Given the description of an element on the screen output the (x, y) to click on. 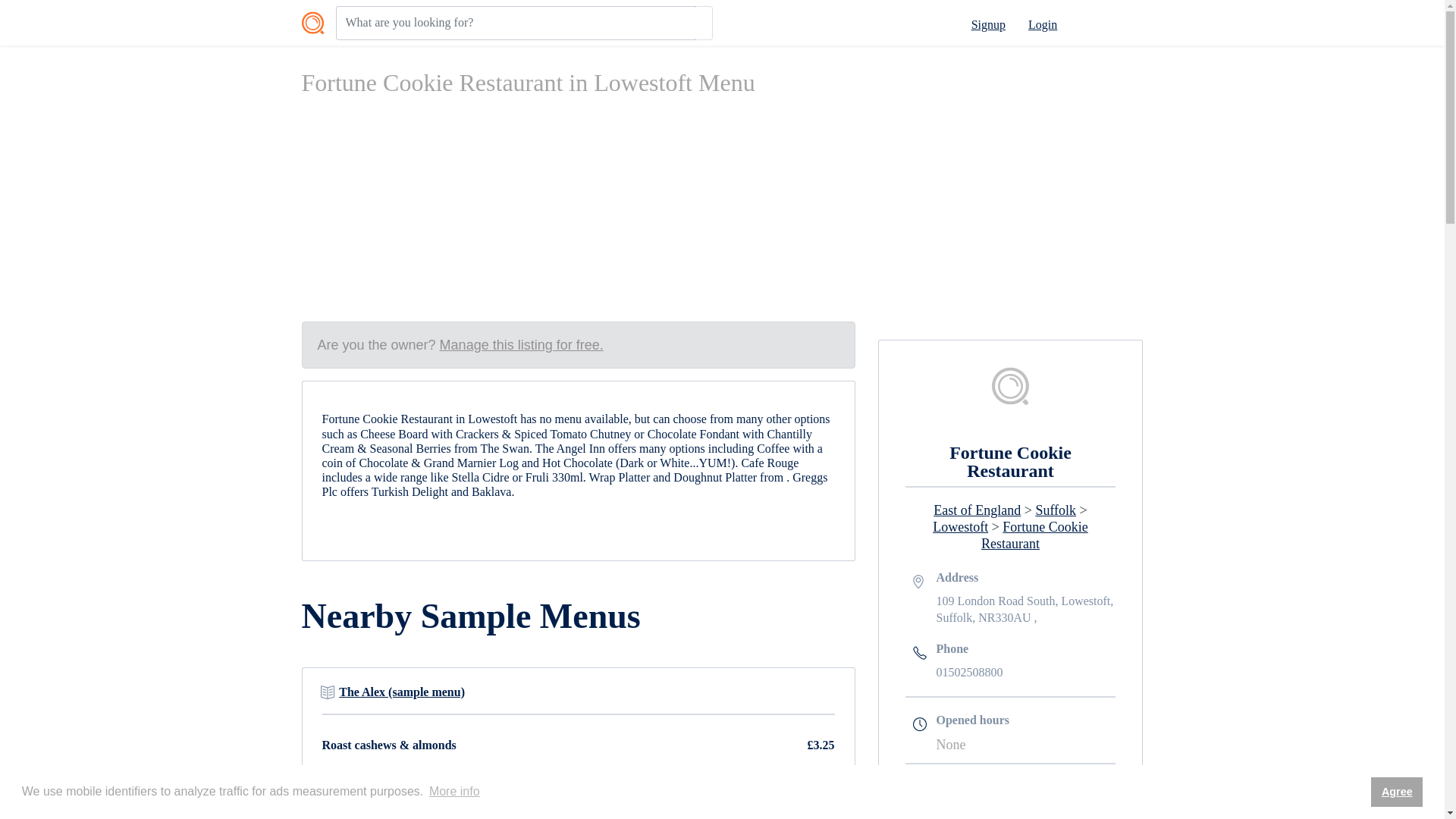
Manage this listing for free. (521, 344)
Agree (1396, 791)
Login (1042, 24)
Signup (988, 24)
More info (453, 791)
East of England (976, 509)
Suffolk (1055, 509)
Fortune Cookie Restaurant (1034, 535)
Lowestoft (960, 526)
